Given the description of an element on the screen output the (x, y) to click on. 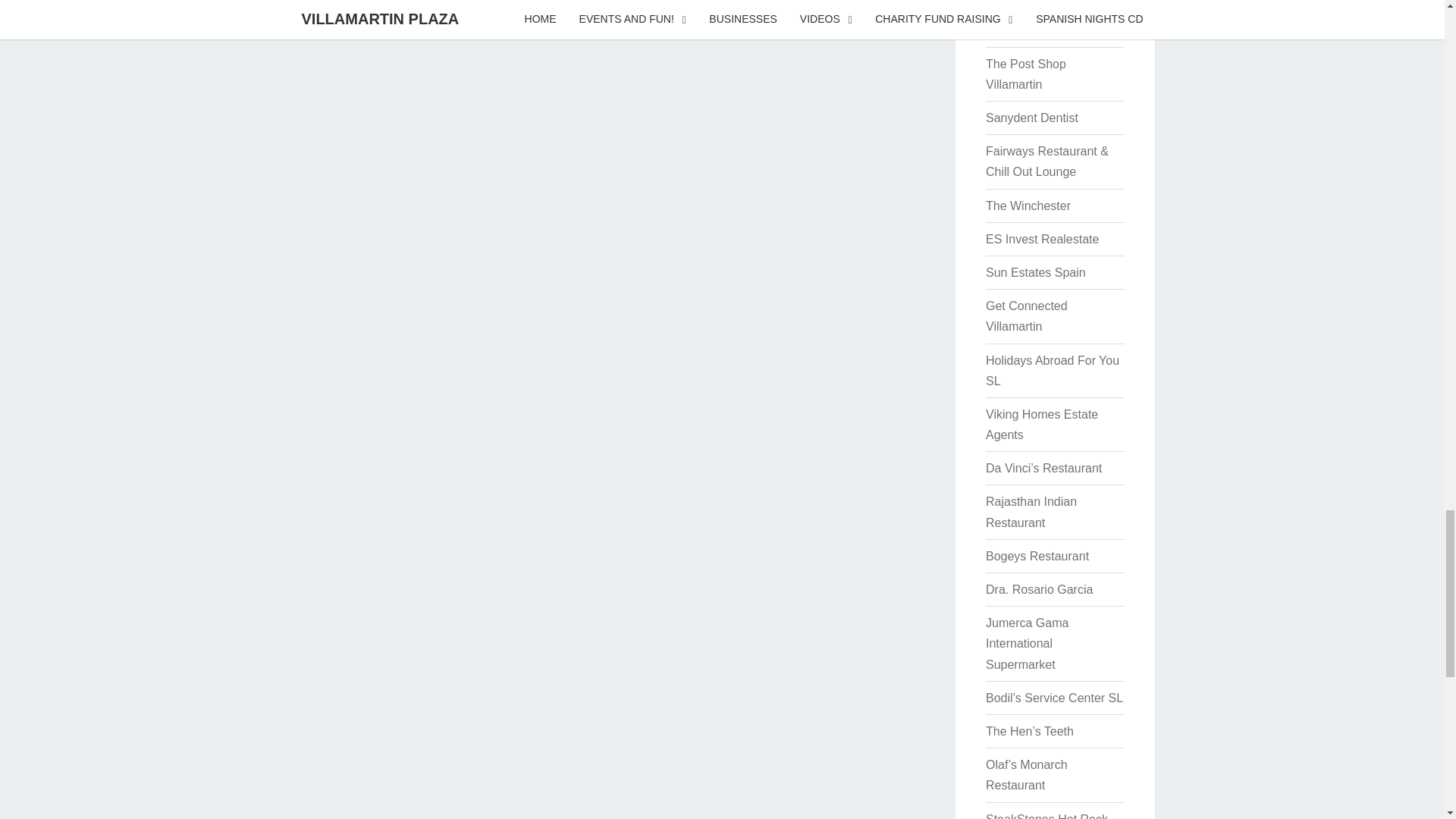
Passion Nightclub (1034, 29)
Get Connected Villamartin (1026, 315)
Sun Estates Spain (1035, 272)
ES Invest Realestate (1042, 238)
The Post Shop Villamartin (1025, 73)
Sanydent Dentist (1031, 117)
The Winchester (1027, 205)
